Given the description of an element on the screen output the (x, y) to click on. 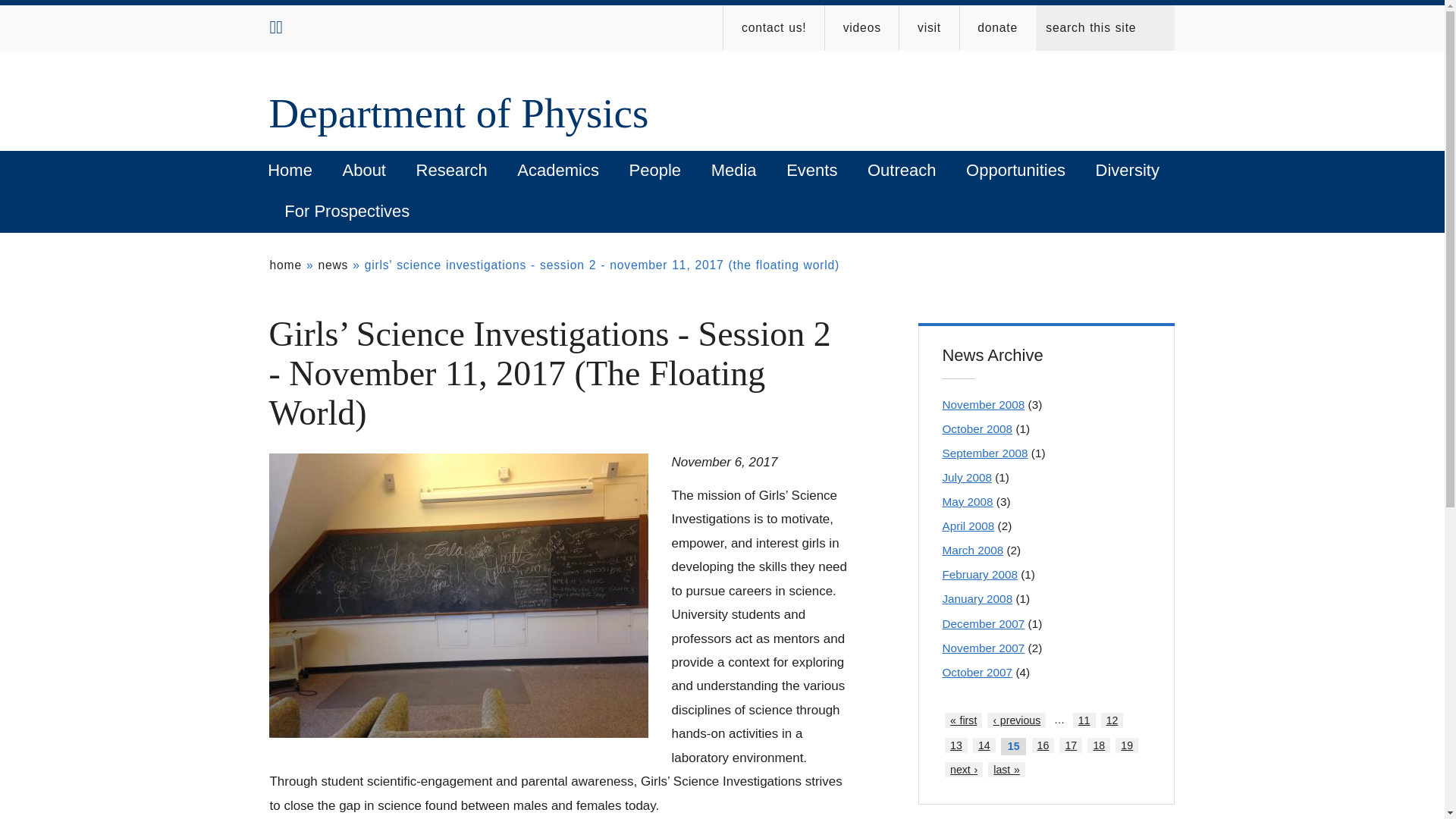
Go to page 18 (1098, 744)
videos (861, 27)
October 2007 (976, 671)
February 2008 (979, 574)
Go to next page (963, 769)
December 2007 (983, 623)
October 2008 (976, 428)
donate (997, 27)
May 2008 (967, 501)
Go to page 19 (1126, 744)
People (654, 170)
April 2008 (968, 525)
news (332, 264)
Opportunities (1015, 170)
Skip to main content (586, 4)
